Given the description of an element on the screen output the (x, y) to click on. 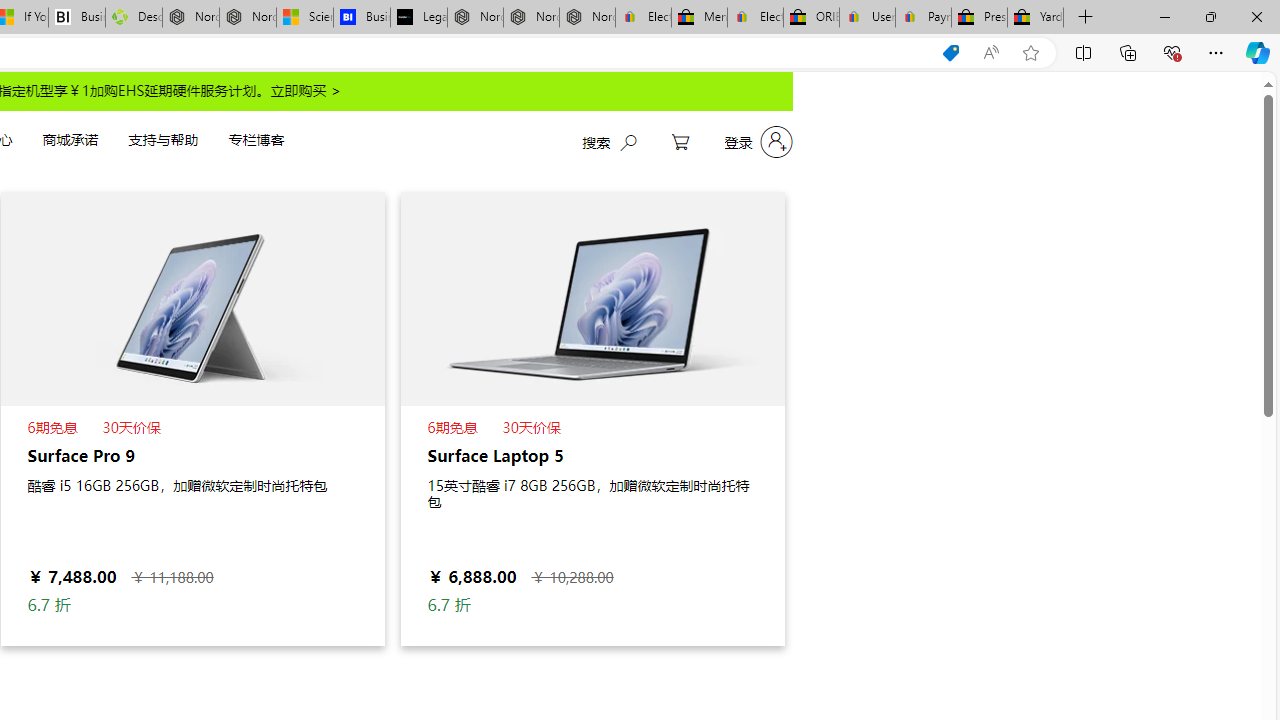
Read aloud this page (Ctrl+Shift+U) (991, 53)
New Tab (1085, 17)
Yard, Garden & Outdoor Living (1035, 17)
Browser essentials (1171, 52)
Restore (1210, 16)
Minimize (1164, 16)
Surface Laptop 5 (591, 417)
Press Room - eBay Inc. (979, 17)
You have the best price! (950, 53)
Copilot (Ctrl+Shift+.) (1258, 52)
